Given the description of an element on the screen output the (x, y) to click on. 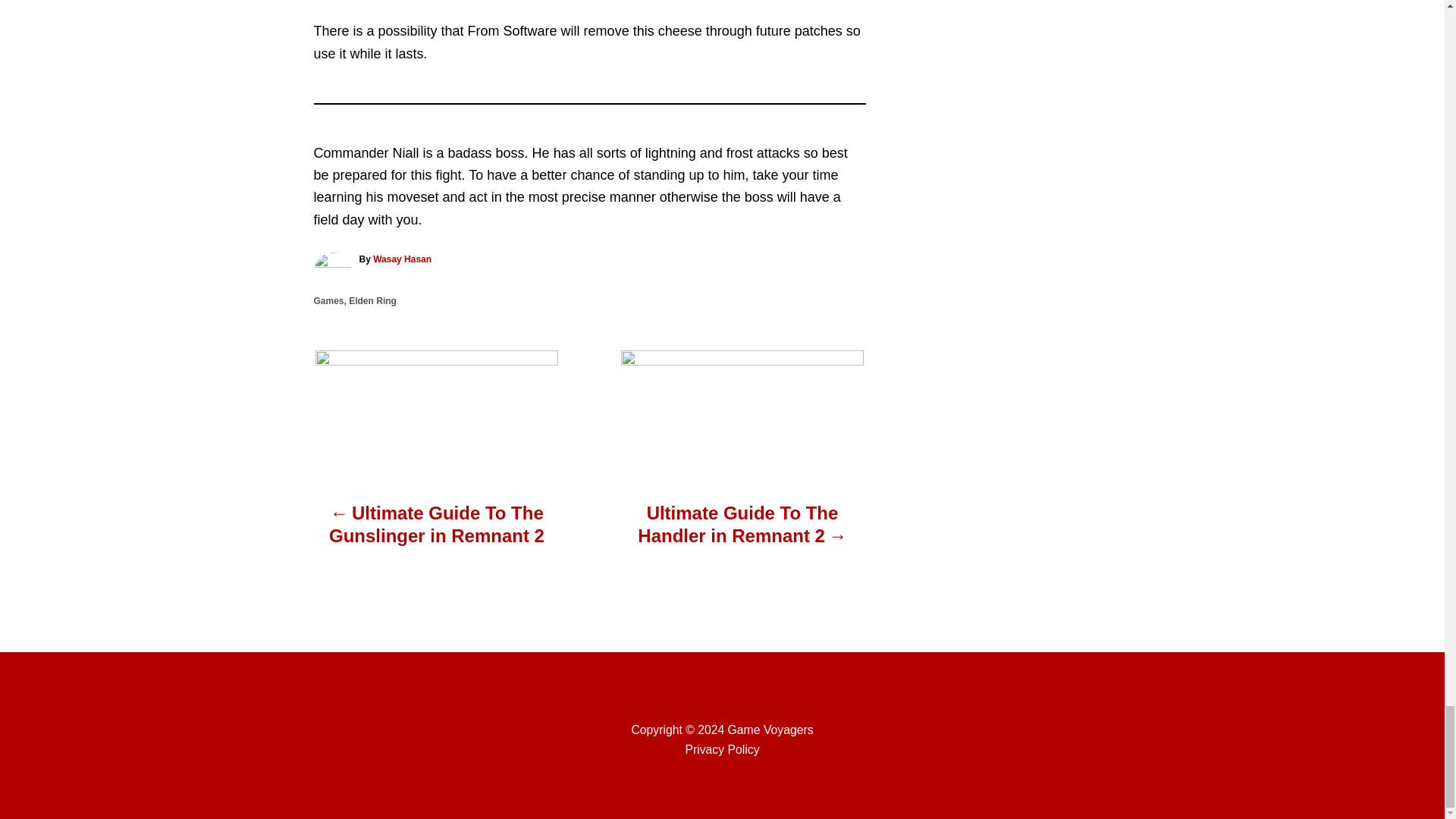
Ultimate Guide To The Gunslinger in Remnant 2 (437, 532)
Ultimate Guide To The Handler in Remnant 2 (741, 532)
Wasay Hasan (401, 258)
Elden Ring (372, 300)
Games (328, 300)
Privacy Policy (721, 748)
